Given the description of an element on the screen output the (x, y) to click on. 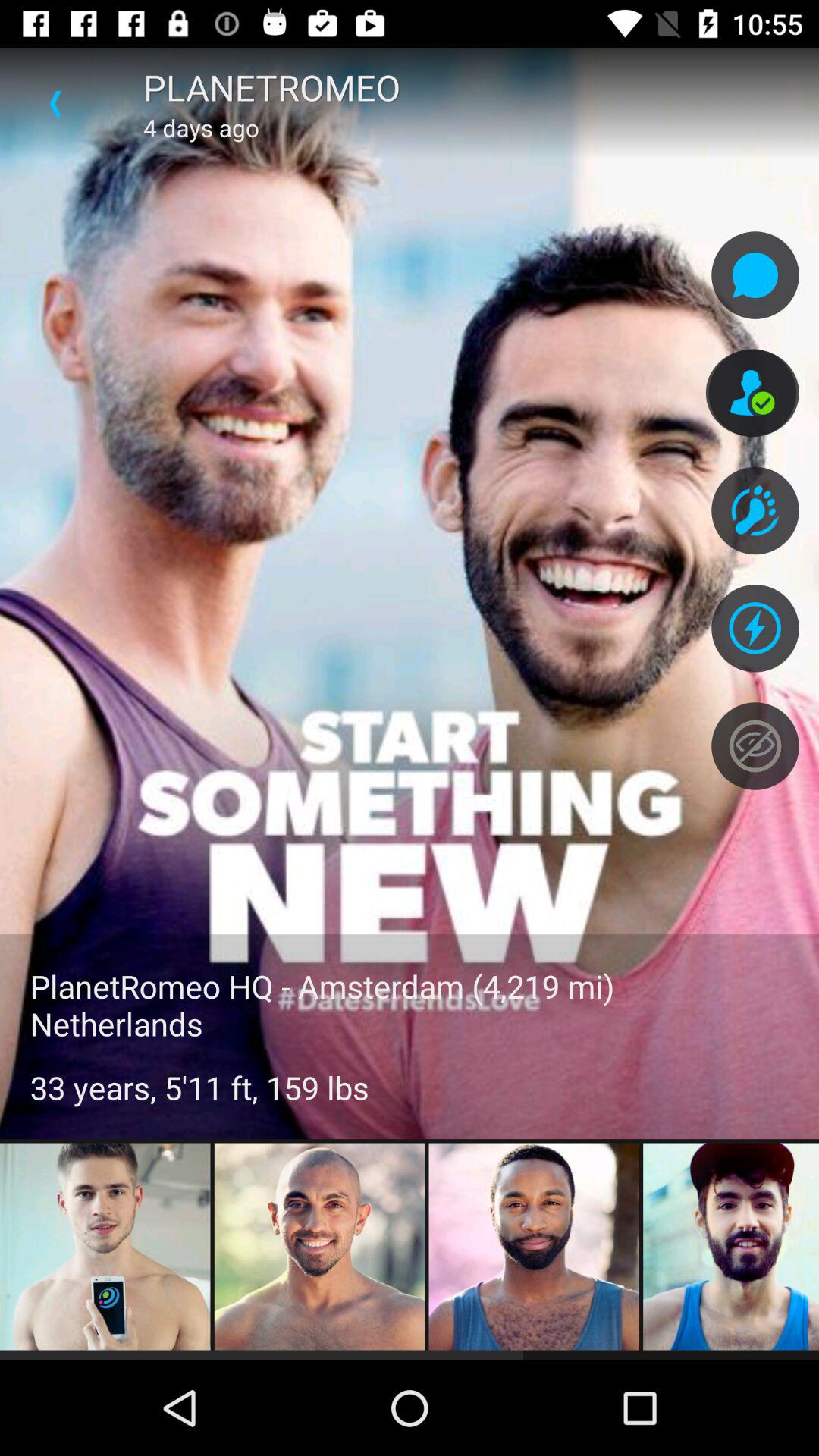
launch the icon to the left of planetromeo icon (55, 103)
